Given the description of an element on the screen output the (x, y) to click on. 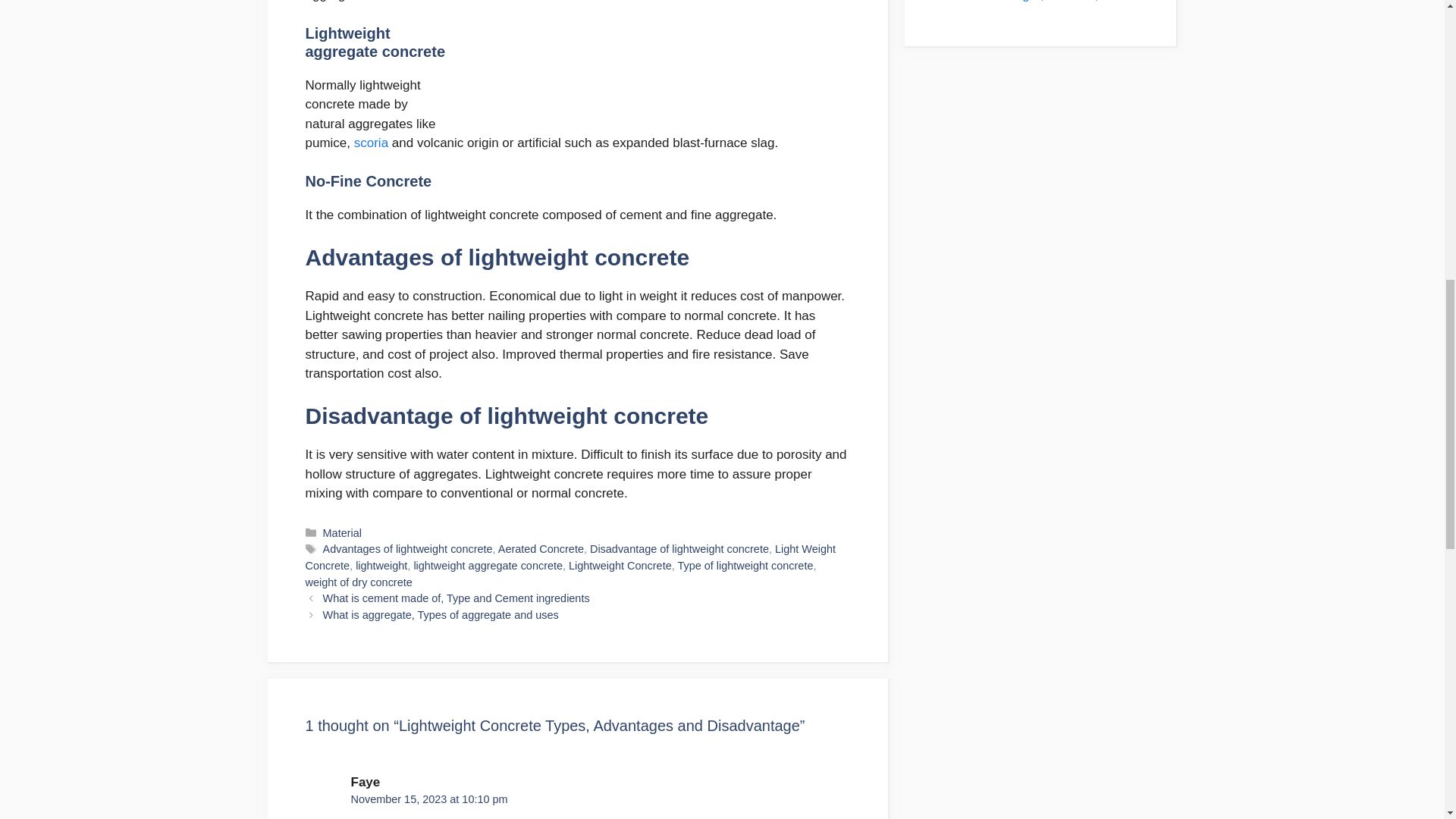
Advantages of lightweight concrete (408, 548)
weight of dry concrete (358, 582)
Type of lightweight concrete (744, 565)
What is aggregate, Types of aggregate and uses (441, 614)
Light Weight Concrete (569, 556)
lightweight (381, 565)
Lightweight Concrete (620, 565)
lightweight aggregate concrete (487, 565)
November 15, 2023 at 10:10 pm (428, 799)
scoria (370, 142)
